Given the description of an element on the screen output the (x, y) to click on. 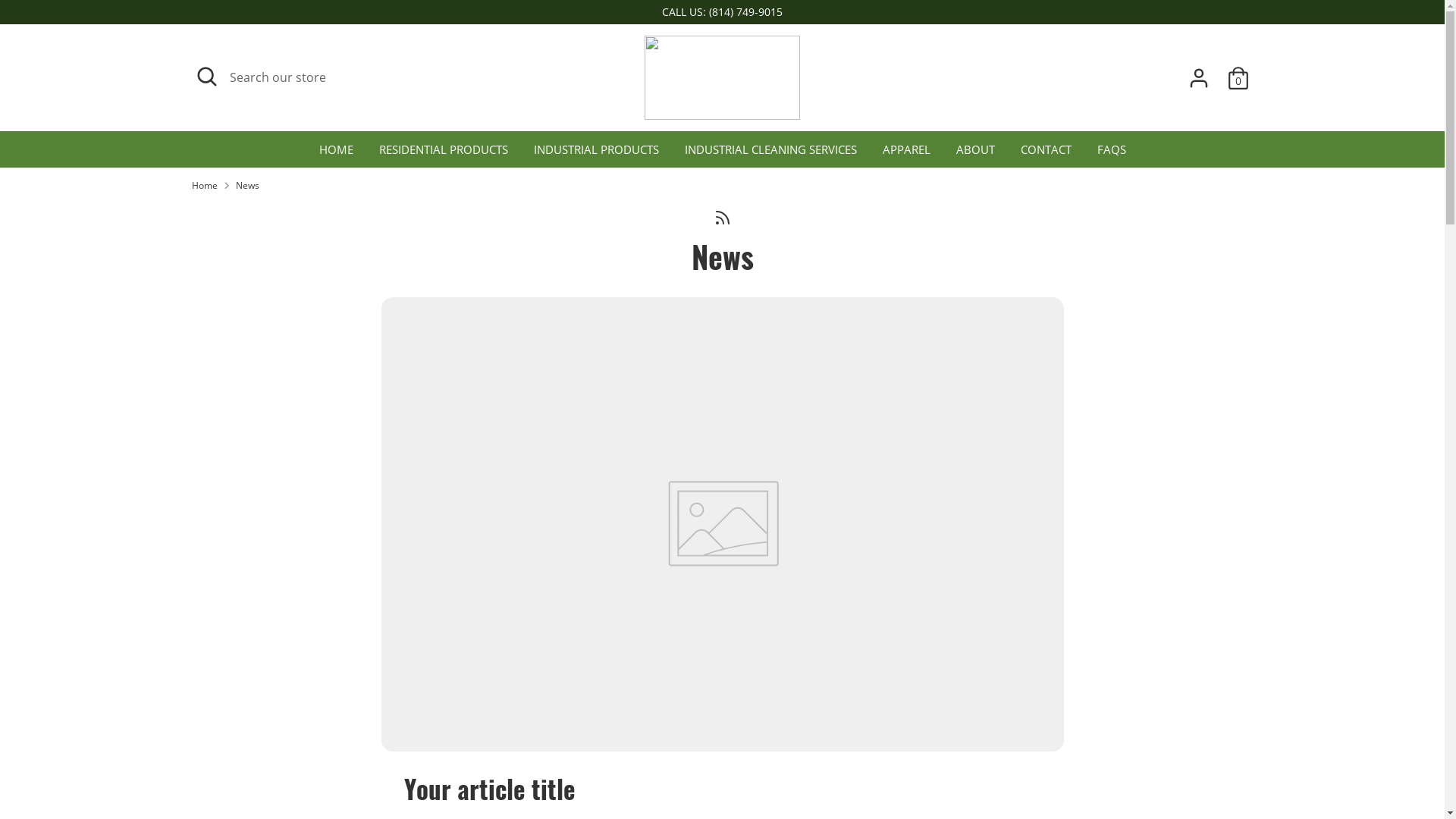
INDUSTRIAL CLEANING SERVICES Element type: text (770, 154)
HOME Element type: text (335, 154)
News RSS Element type: hover (721, 216)
About Element type: text (208, 541)
Home Element type: text (203, 185)
ABOUT Element type: text (975, 154)
CONTACT Element type: text (1045, 154)
Contact Element type: text (213, 567)
All Products Element type: text (586, 592)
Shipping Policy Element type: text (234, 644)
3S Chemicals Element type: text (296, 777)
INDUSTRIAL PRODUCTS Element type: text (595, 154)
APPAREL Element type: text (905, 154)
News Element type: text (246, 185)
Terms of Service Element type: text (238, 618)
0 Element type: text (1237, 77)
News Element type: text (722, 256)
Residential Element type: text (583, 567)
Featured Element type: text (578, 541)
Refund Policy Element type: text (229, 669)
Industrial Products Element type: text (607, 618)
Your article title Element type: text (488, 788)
FAQS Element type: text (1111, 154)
RESIDENTIAL PRODUCTS Element type: text (442, 154)
Privacy Policy Element type: text (229, 592)
Powered by Shopify Element type: text (370, 777)
